Given the description of an element on the screen output the (x, y) to click on. 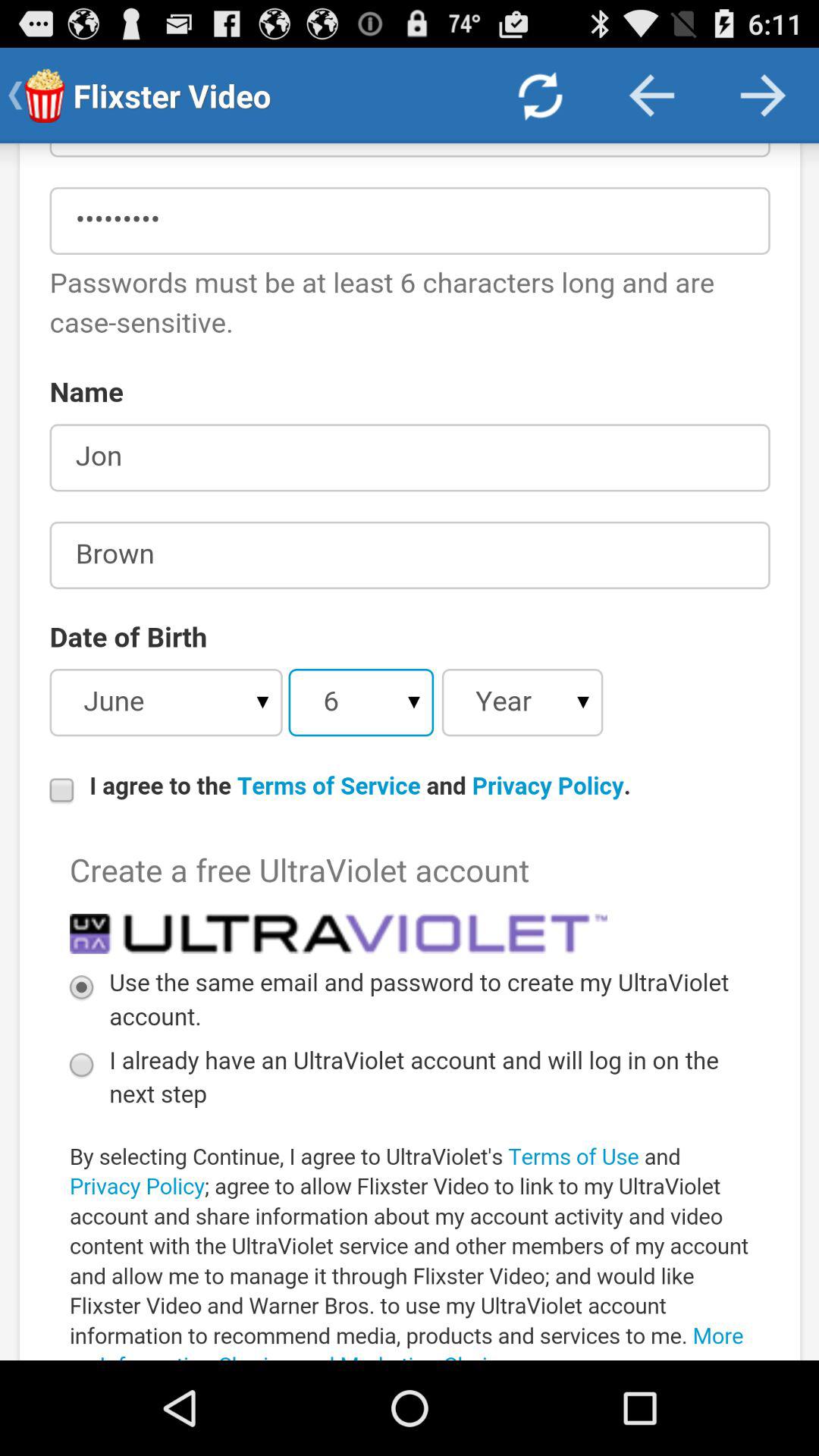
enter registration information (409, 751)
